Given the description of an element on the screen output the (x, y) to click on. 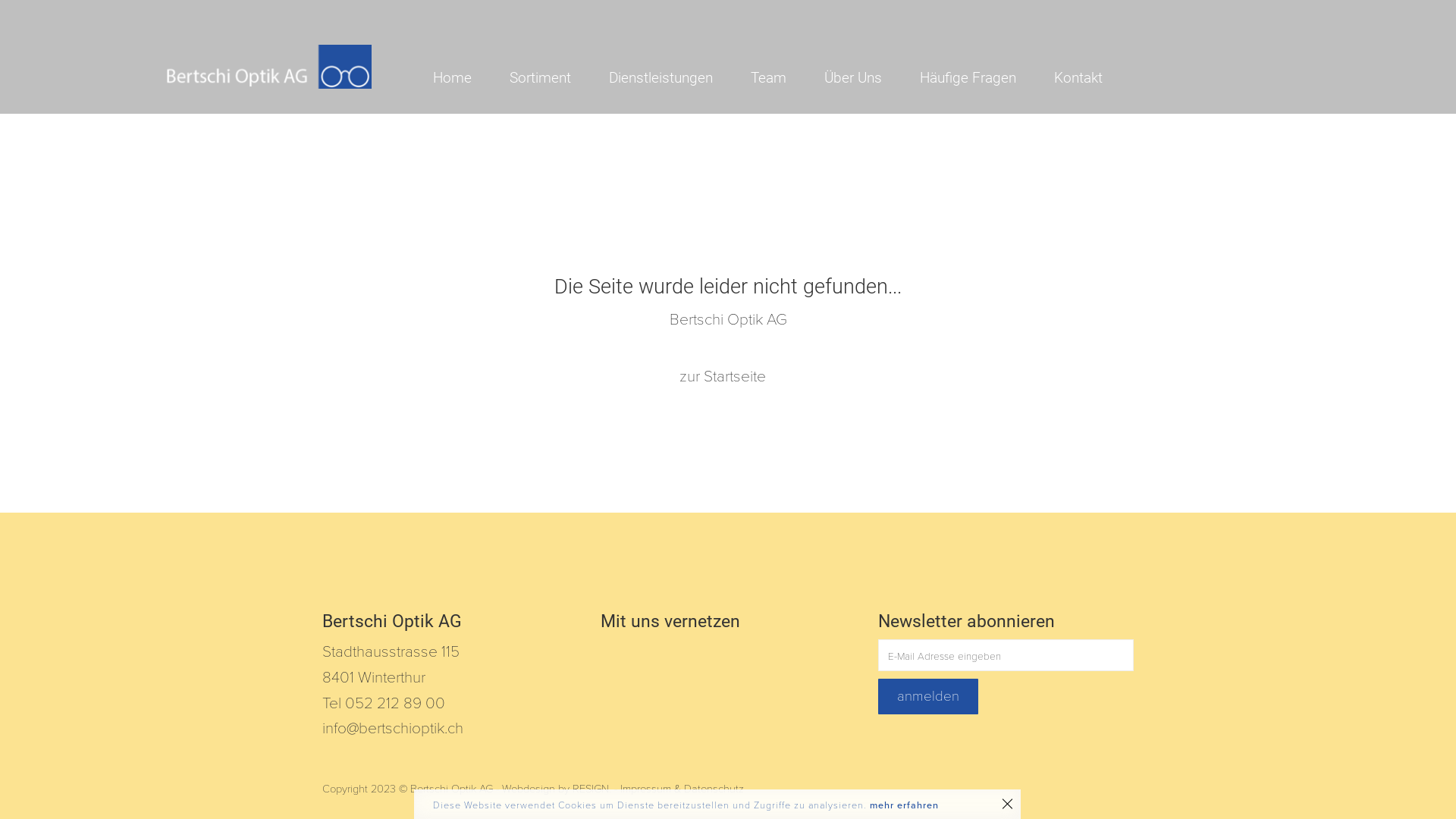
Impressum & Datenschutz Element type: text (681, 788)
zur Startseite Element type: text (722, 376)
Home Element type: text (433, 77)
Sortiment Element type: text (521, 77)
Tel 052 212 89 00 Element type: text (383, 702)
Close Element type: hover (1007, 803)
mehr erfahren Element type: text (903, 805)
RESIGN Element type: text (590, 788)
anmelden Element type: text (928, 695)
info@bertschioptik.ch Element type: text (392, 727)
Dienstleistungen Element type: text (641, 77)
Kontakt Element type: text (1059, 77)
Team Element type: text (749, 77)
